Given the description of an element on the screen output the (x, y) to click on. 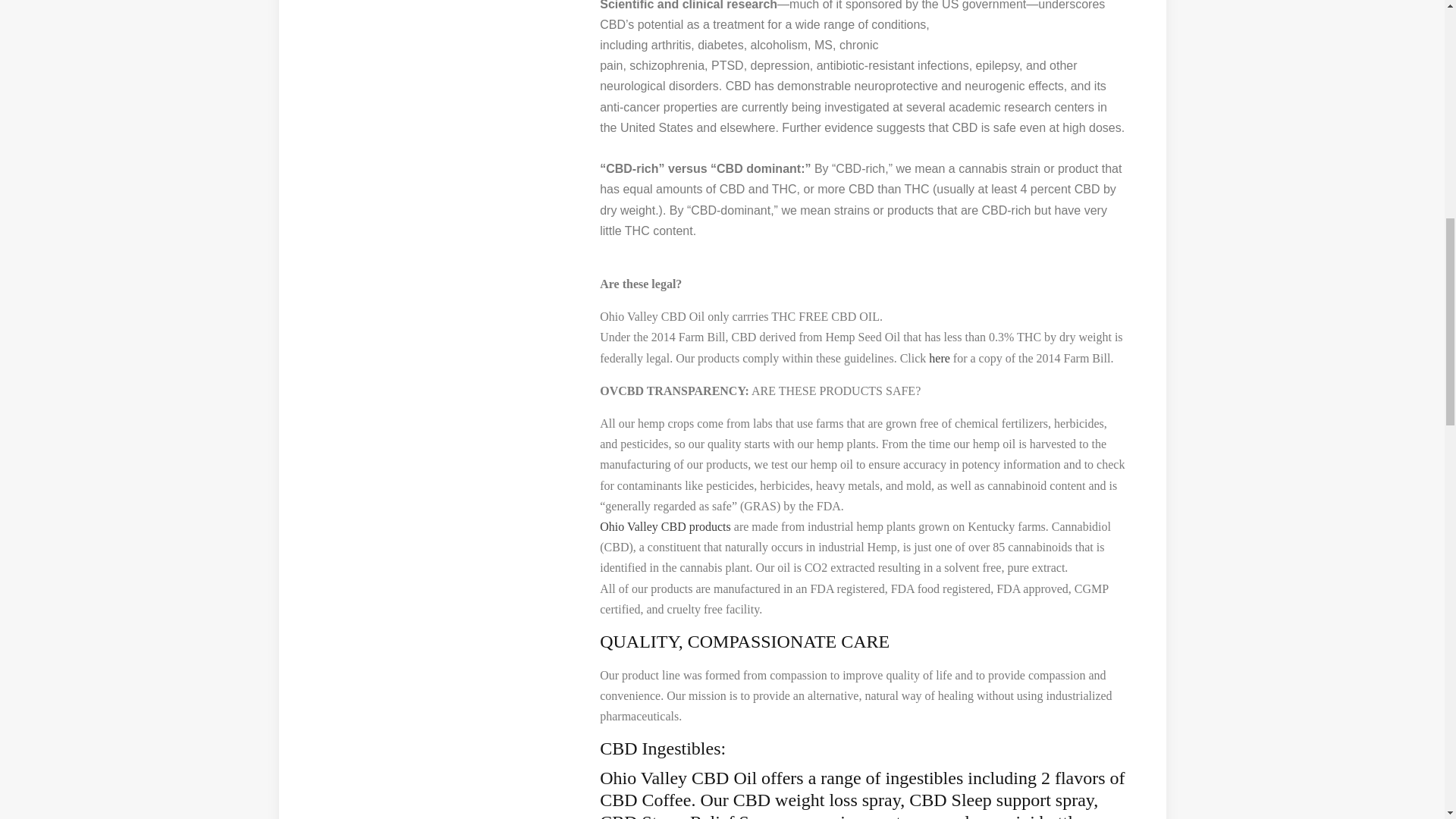
Ohio Valley CBD products (664, 526)
CBD Ingestibles: (662, 748)
here (939, 358)
